Given the description of an element on the screen output the (x, y) to click on. 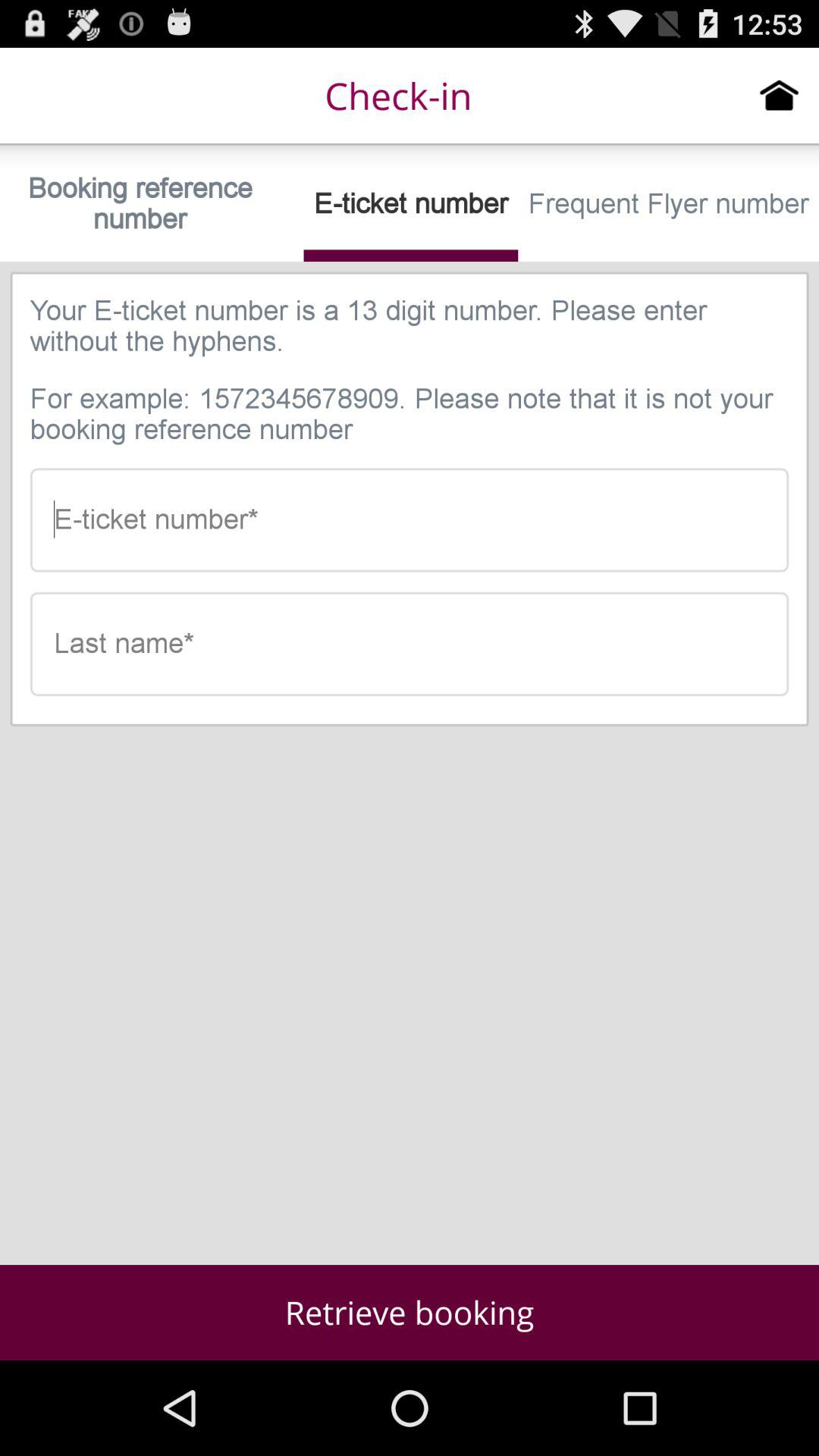
swipe until retrieve booking item (409, 1312)
